Given the description of an element on the screen output the (x, y) to click on. 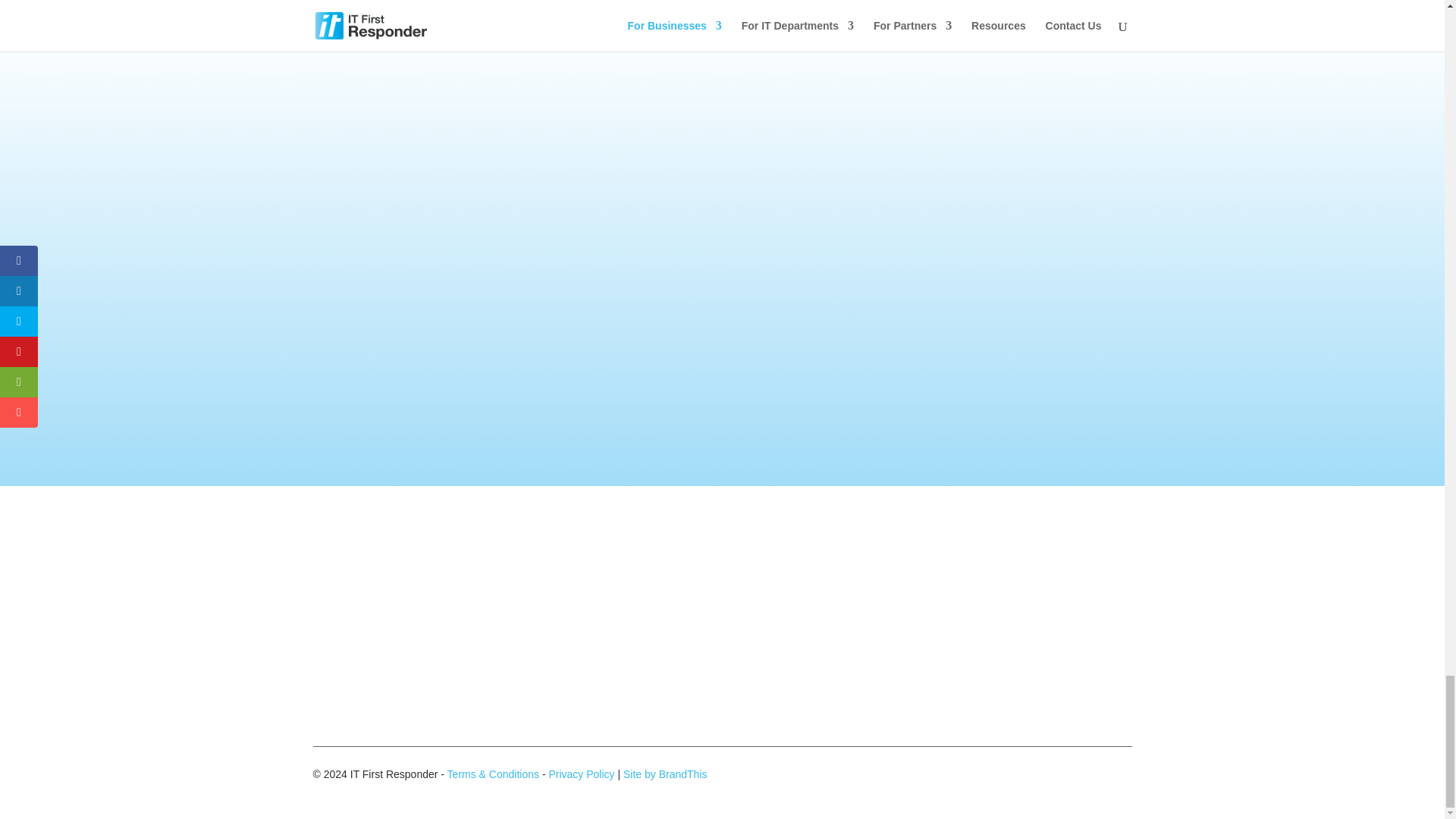
Privacy Policy (581, 774)
Site by BrandThis (665, 774)
